Given the description of an element on the screen output the (x, y) to click on. 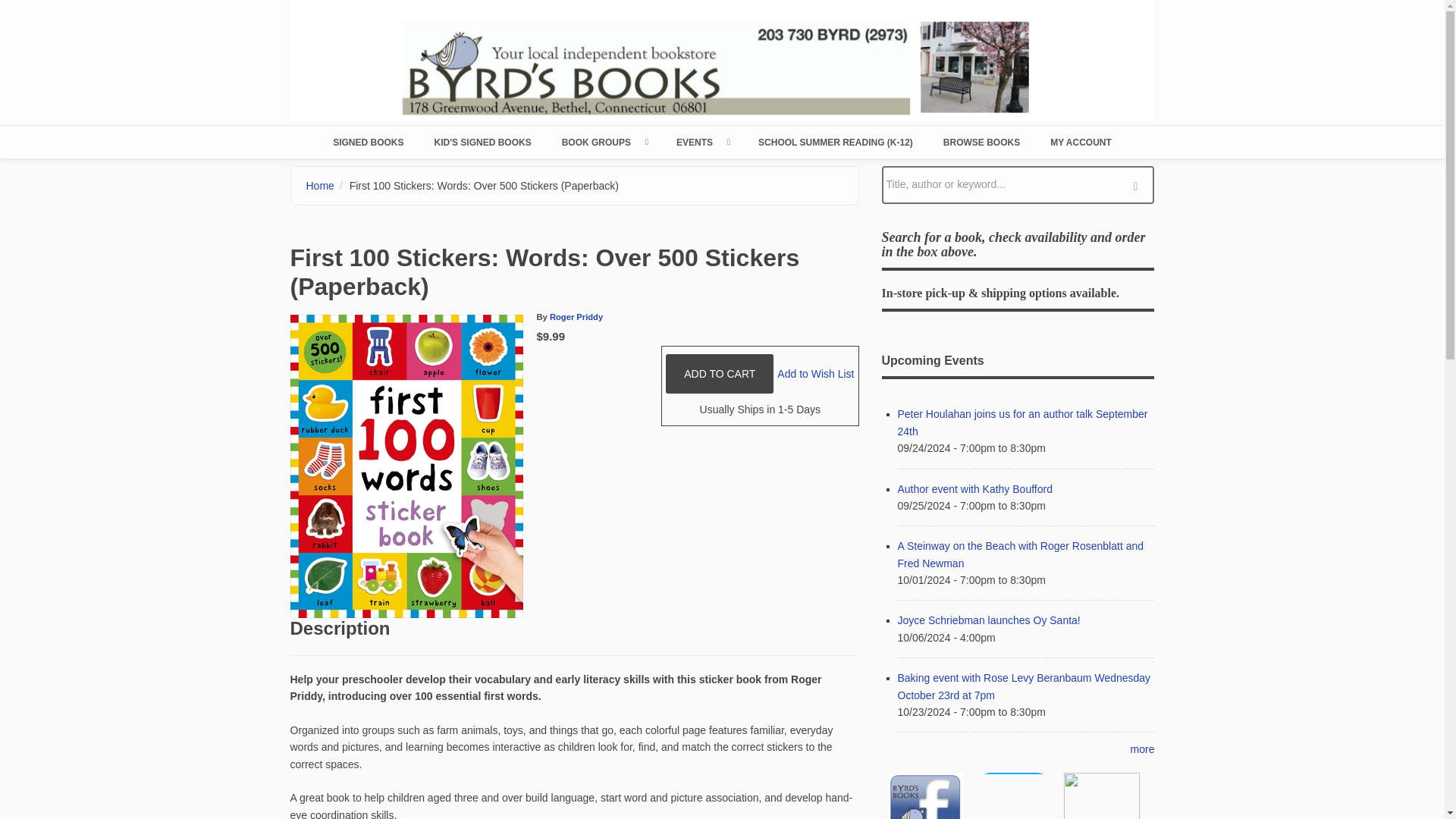
Home (721, 59)
KID'S SIGNED BOOKS (482, 142)
Kid's Signed Books (482, 142)
MY ACCOUNT (1080, 142)
BROWSE BOOKS (981, 142)
Add to Cart (719, 373)
EVENTS (701, 142)
Roger Priddy (576, 316)
